Given the description of an element on the screen output the (x, y) to click on. 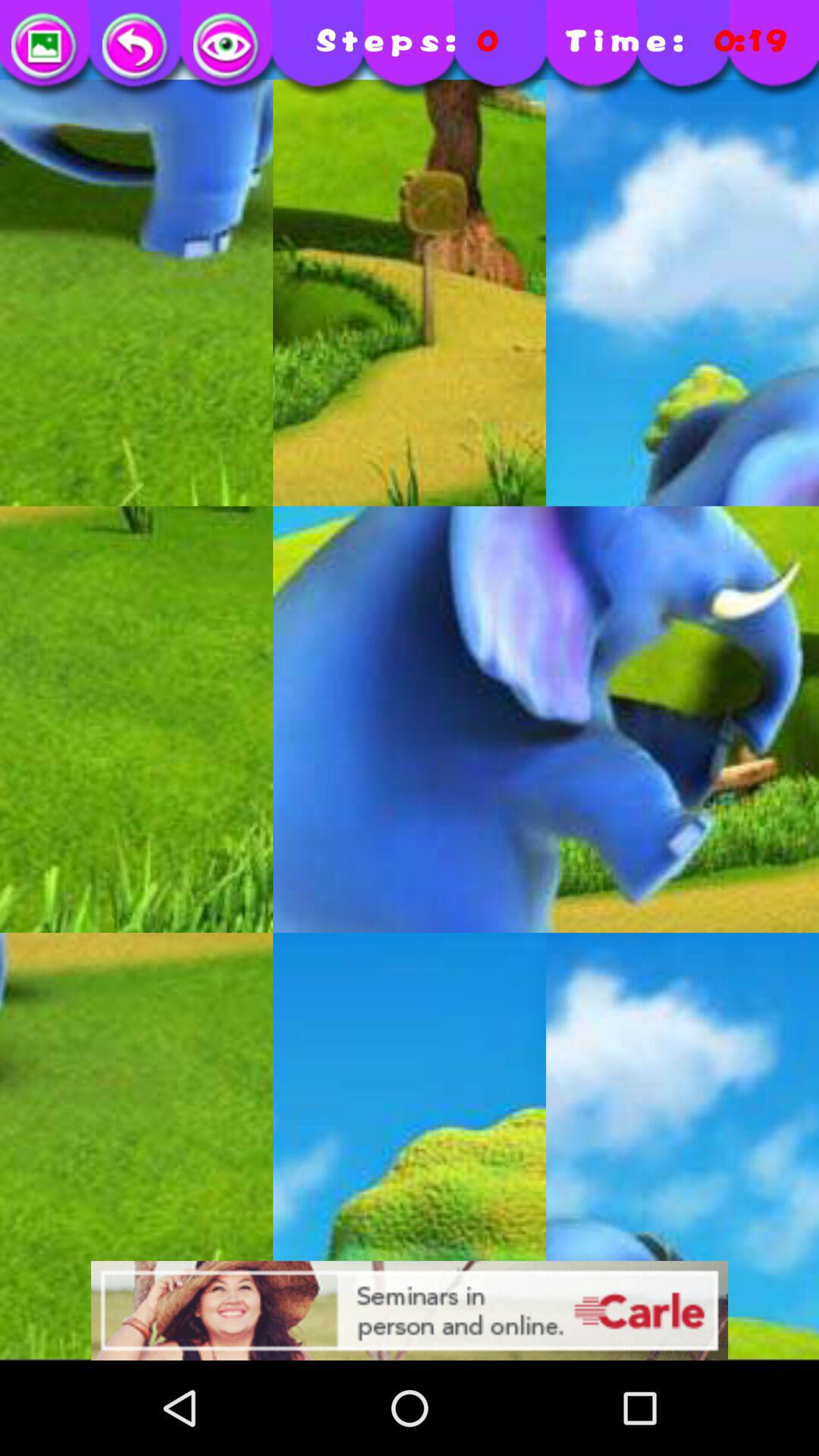
advertisement display (409, 1310)
